Given the description of an element on the screen output the (x, y) to click on. 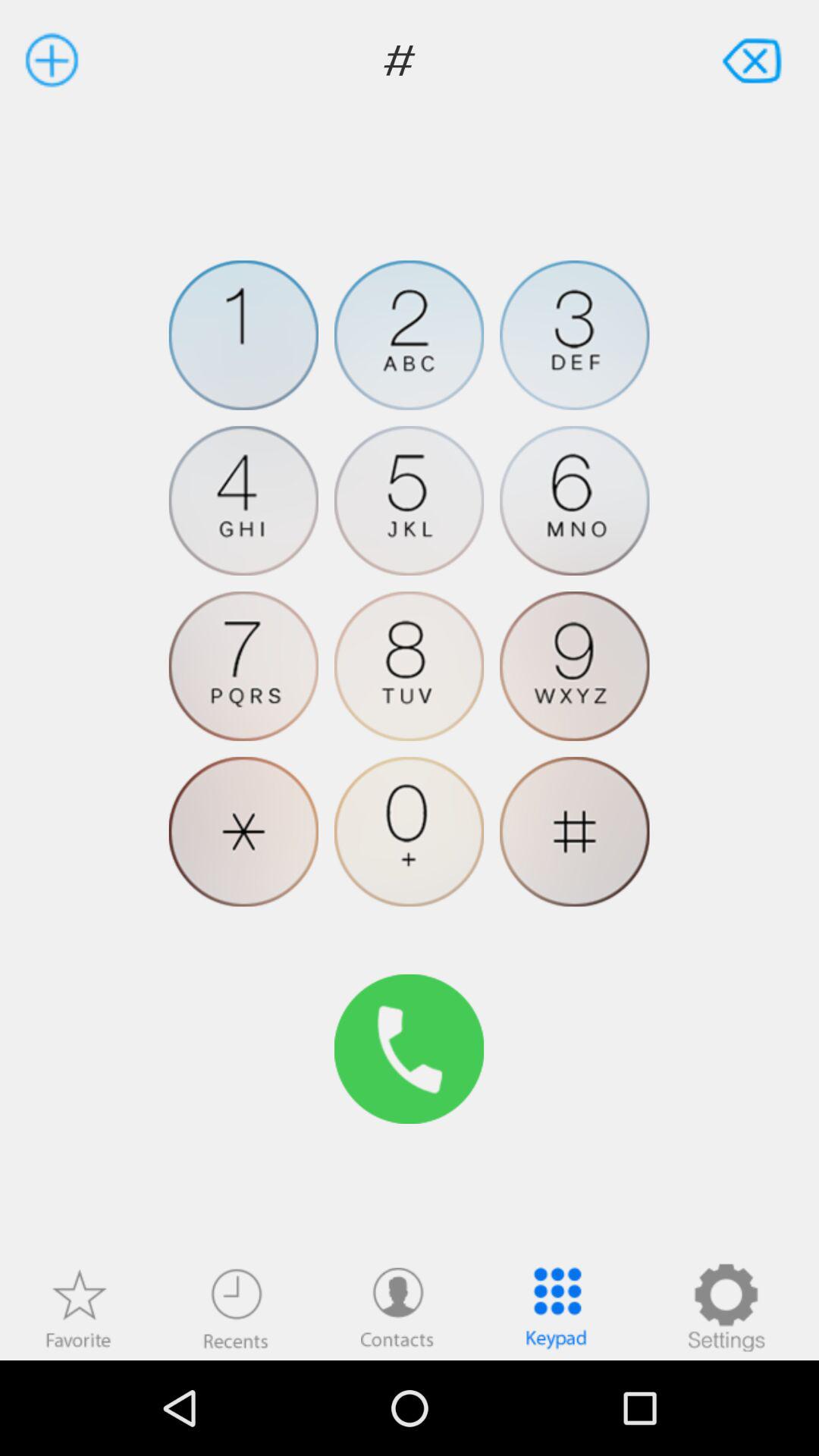
dial the number one (243, 335)
